Given the description of an element on the screen output the (x, y) to click on. 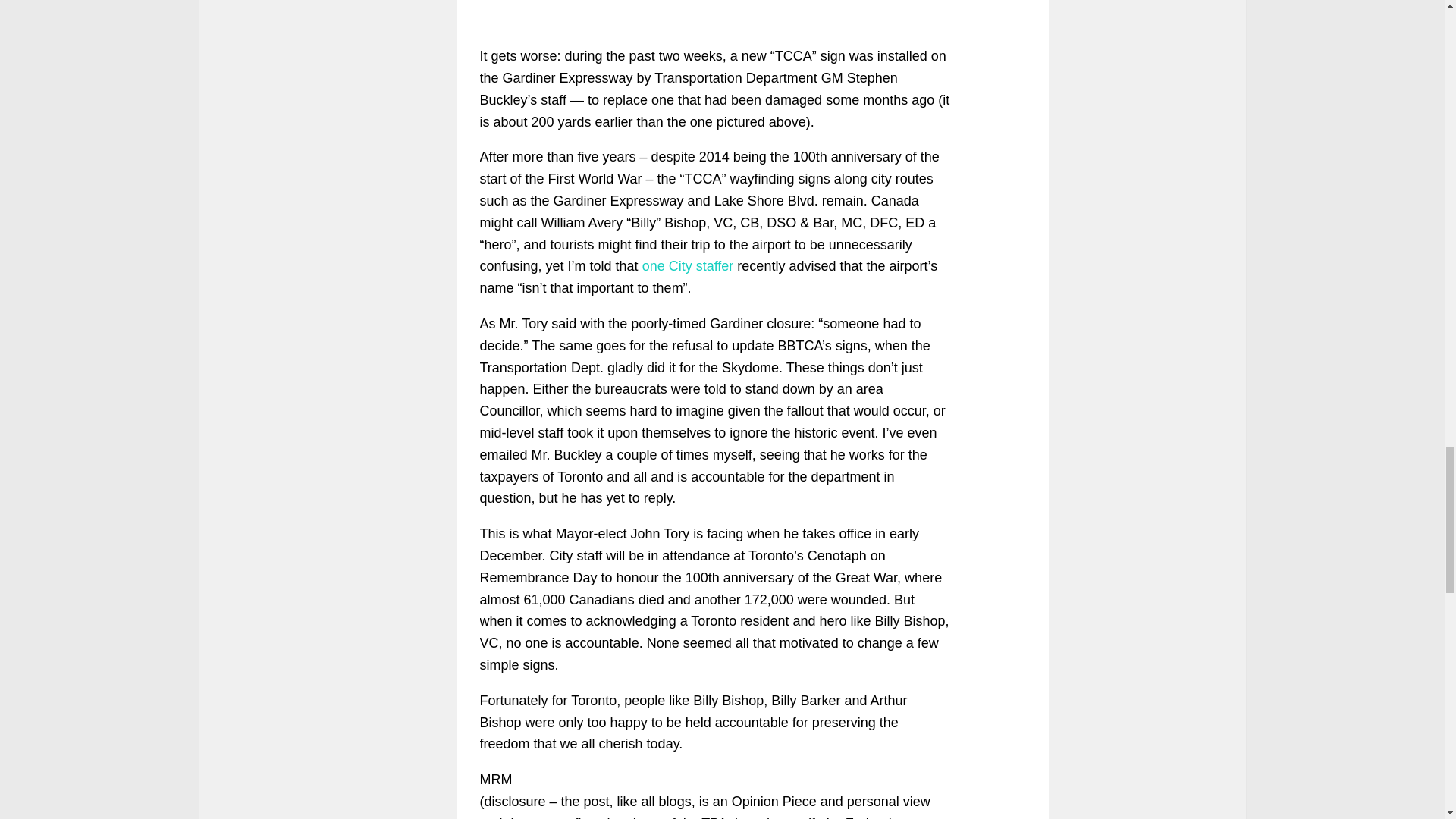
one City staffer (687, 265)
